Given the description of an element on the screen output the (x, y) to click on. 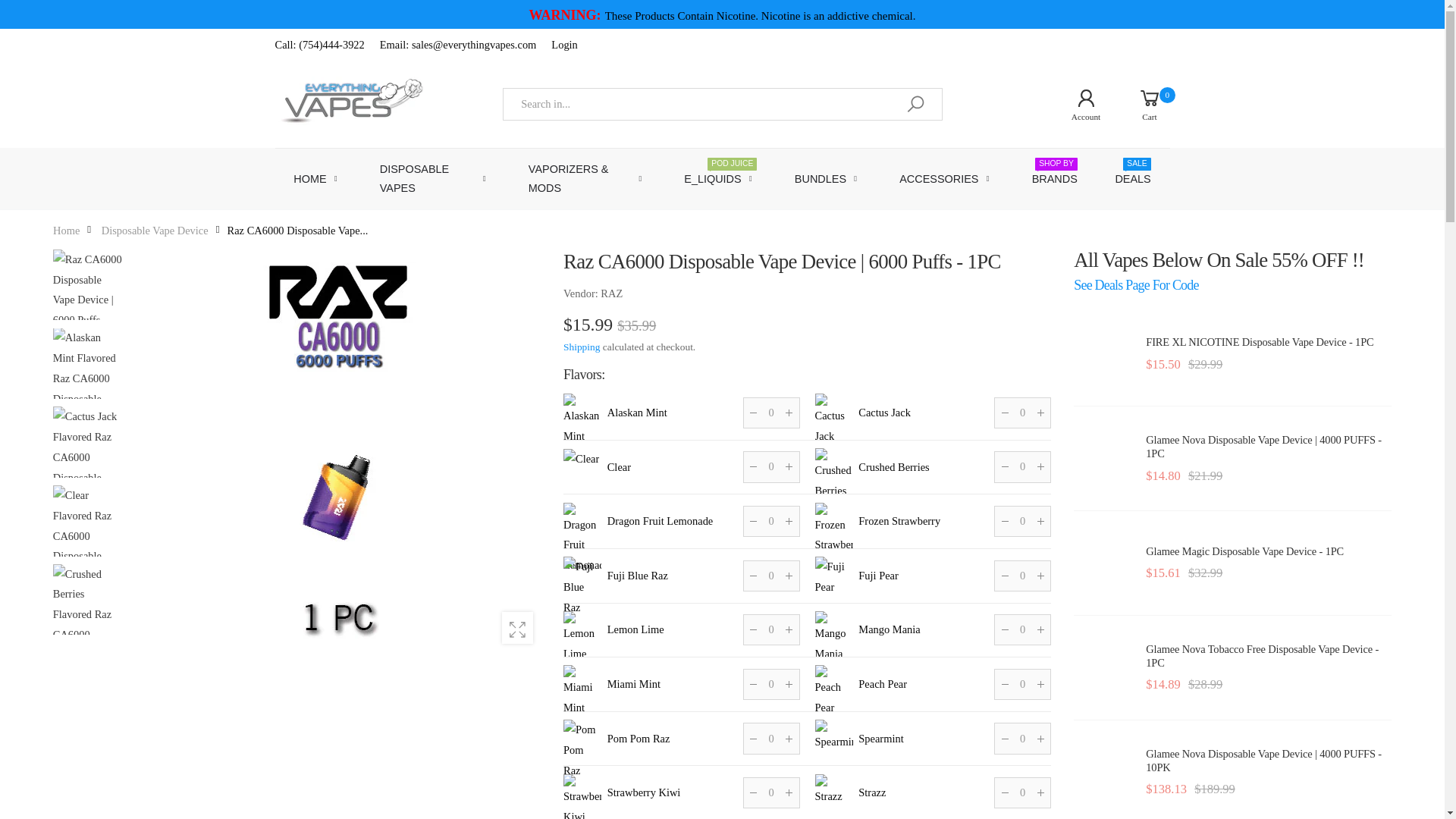
View large images in your viewport (517, 626)
0 (1022, 737)
0 (1022, 466)
0 (1022, 412)
0 (770, 521)
0 (770, 792)
0 (1022, 521)
0 (770, 737)
0 (770, 412)
0 (1022, 629)
Disposable Vape Device (1138, 103)
0 (154, 230)
Home (770, 629)
0 (66, 230)
